Given the description of an element on the screen output the (x, y) to click on. 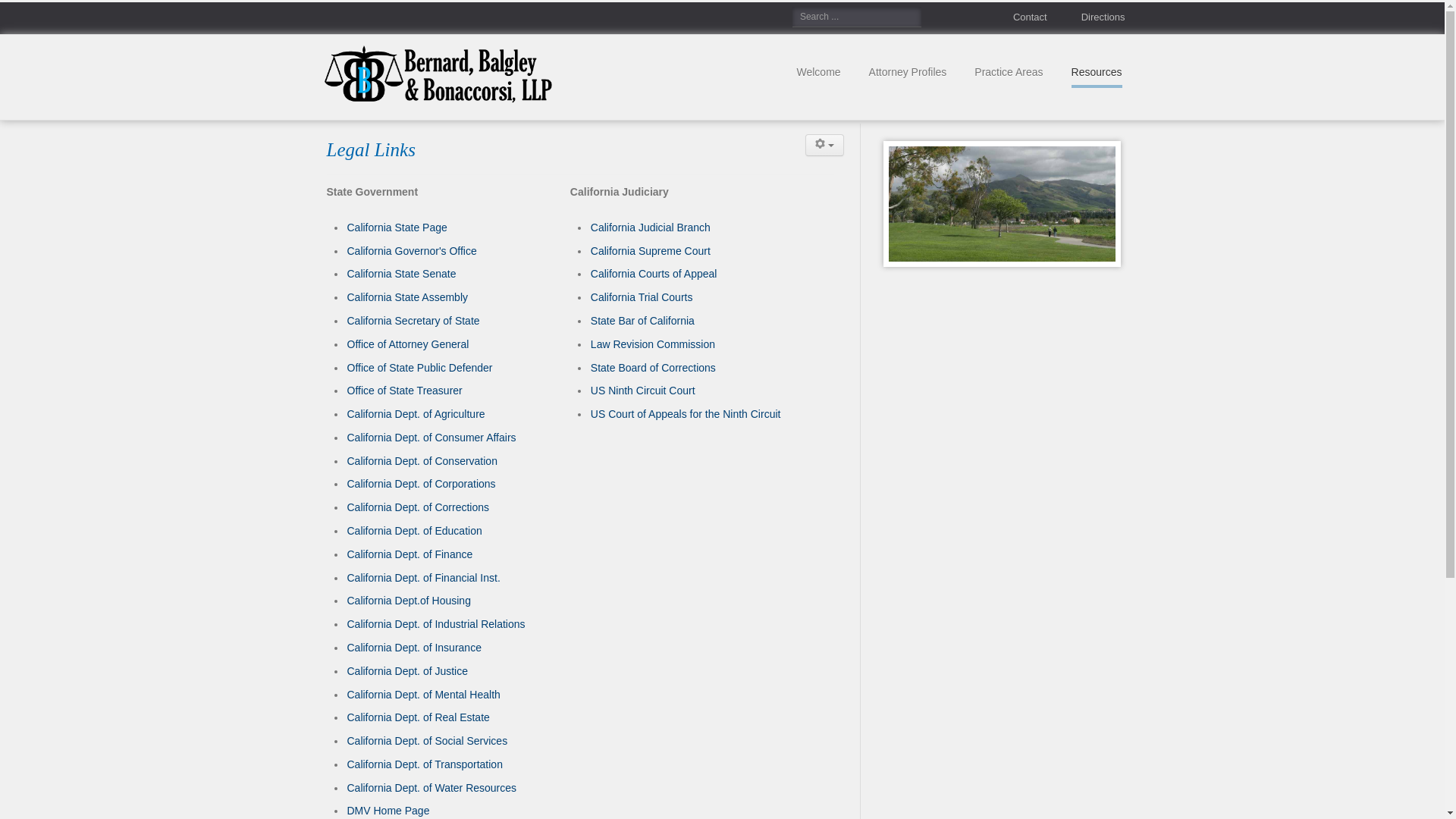
US Court of Appeals for the Ninth Circuit Element type: text (685, 413)
Office of State Public Defender Element type: text (419, 367)
Office of Attorney General Element type: text (408, 344)
California Dept. of Mental Health Element type: text (423, 694)
California Dept. of Social Services Element type: text (427, 740)
Welcome Element type: text (818, 72)
California Dept. of Corrections Element type: text (418, 507)
Attorney Profiles Element type: text (908, 72)
California State Assembly Element type: text (407, 297)
Directions Element type: text (1089, 16)
California Dept. of Corporations Element type: text (421, 483)
California Dept. of Consumer Affairs Element type: text (431, 437)
California Governor's Office Element type: text (411, 250)
US Ninth Circuit Court Element type: text (642, 390)
California Dept. of Agriculture Element type: text (416, 413)
Office of State Treasurer Element type: text (404, 390)
State Bar of California Element type: text (642, 320)
California Dept. of Real Estate Element type: text (418, 717)
California Secretary of State Element type: text (413, 320)
DMV Home Page Element type: text (388, 810)
California Dept. of Justice Element type: text (407, 671)
California Dept. of Water Resources Element type: text (432, 787)
Resources Element type: text (1096, 72)
California Dept. of Transportation Element type: text (424, 764)
California Dept. of Education Element type: text (414, 530)
California Trial Courts Element type: text (641, 297)
California Dept. of Financial Inst. Element type: text (423, 577)
California Dept. of Finance Element type: text (410, 554)
California State Page Element type: text (397, 227)
California Dept. of Insurance Element type: text (414, 647)
California Supreme Court Element type: text (650, 250)
California State Senate Element type: text (401, 273)
California Judicial Branch Element type: text (650, 227)
Contact Element type: text (1016, 16)
California Dept.of Housing Element type: text (408, 600)
California Dept. of Conservation Element type: text (422, 461)
California Courts of Appeal Element type: text (653, 273)
Law Revision Commission Element type: text (652, 344)
California Dept. of Industrial Relations Element type: text (436, 624)
State Board of Corrections Element type: text (652, 367)
